Given the description of an element on the screen output the (x, y) to click on. 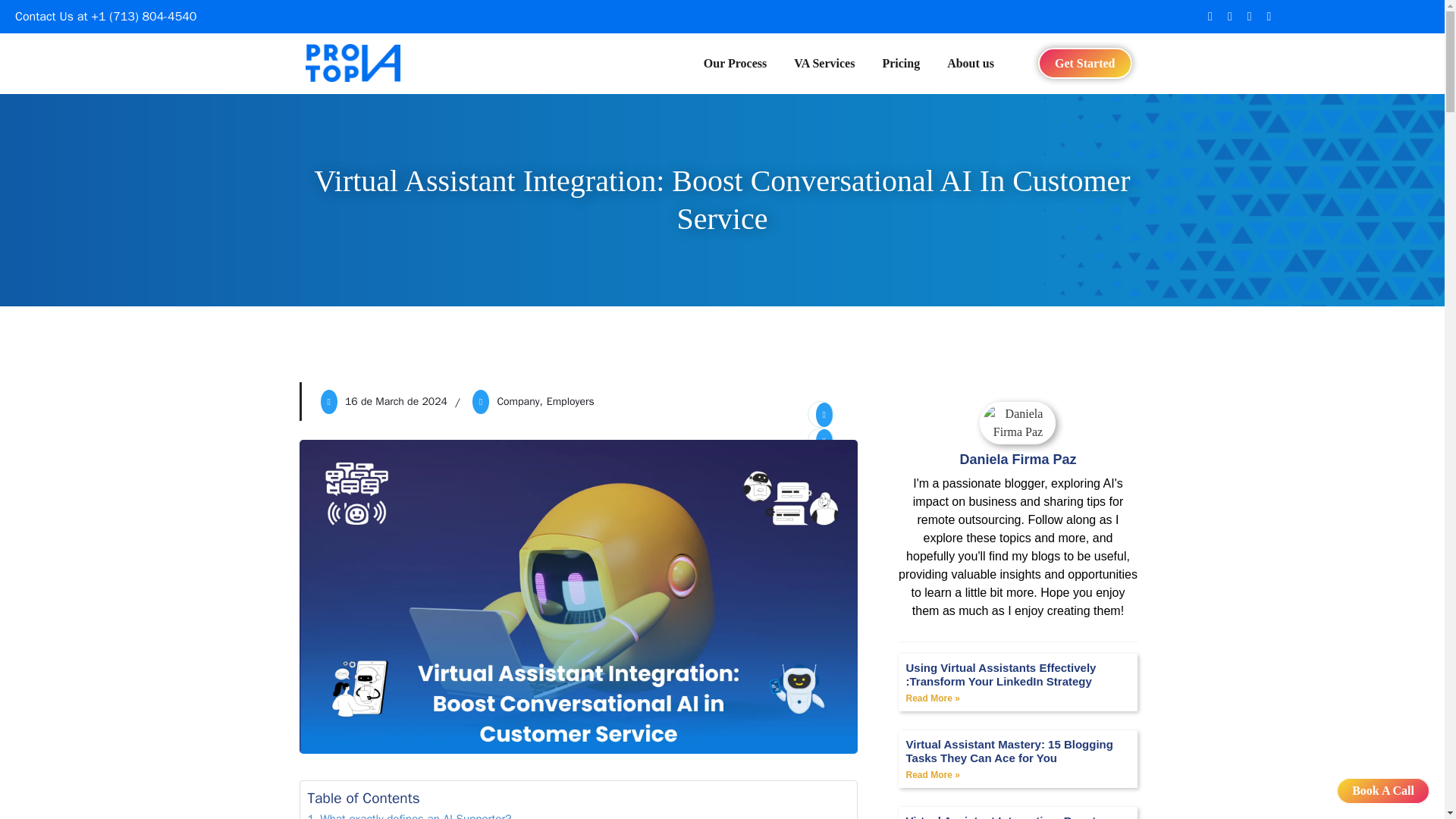
What exactly defines an AI Supporter? (409, 814)
Pricing (900, 63)
Company (517, 401)
ProtopVA (351, 64)
About us (970, 63)
16 de March de 2024 (395, 400)
Click to send this page to Twitter! (819, 440)
VA Services (823, 63)
Get Started (1085, 62)
Our Process (741, 63)
Employers (568, 401)
ProtopVA (351, 62)
What exactly defines an AI Supporter? (409, 814)
